Given the description of an element on the screen output the (x, y) to click on. 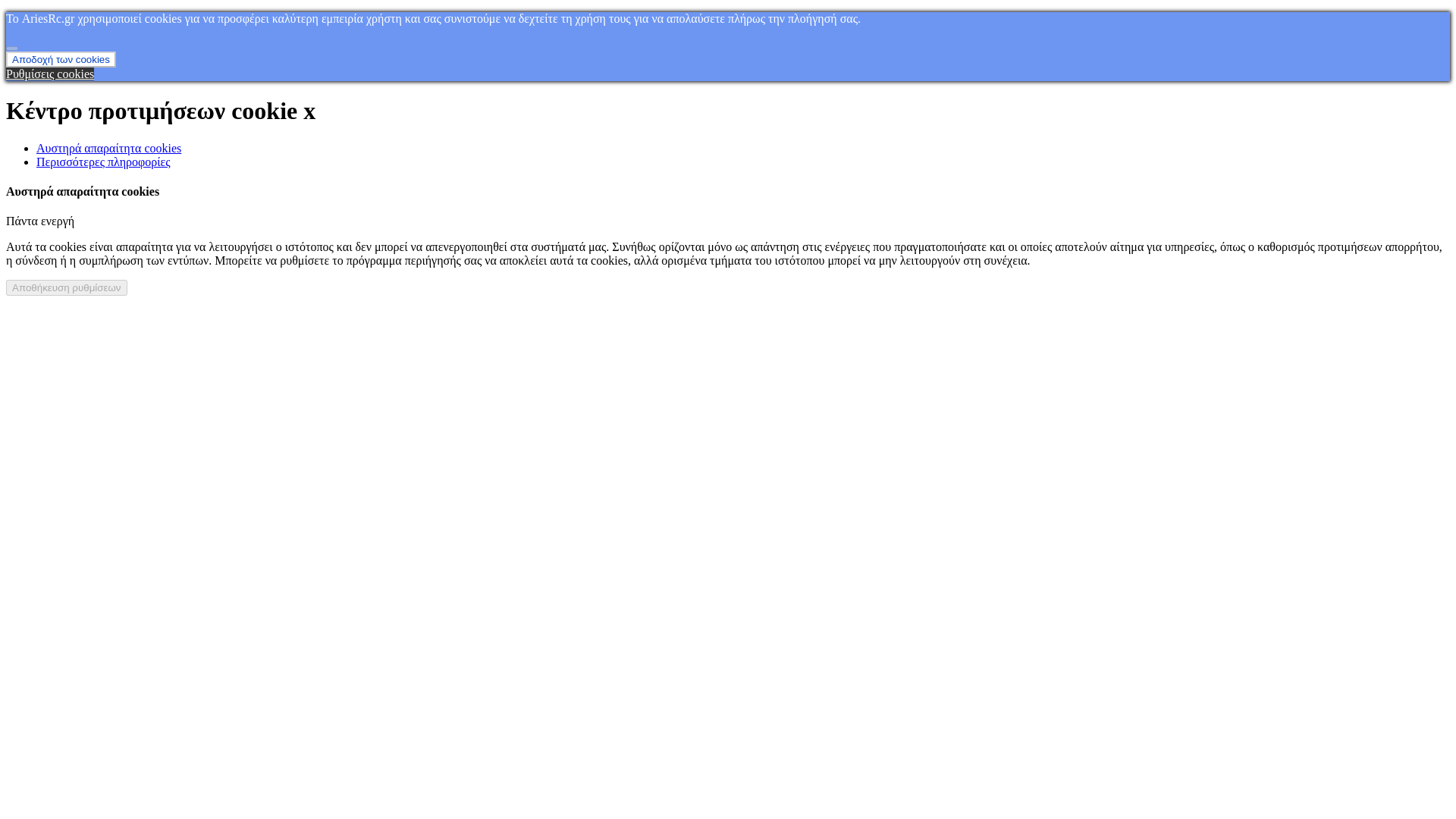
x (308, 110)
